Given the description of an element on the screen output the (x, y) to click on. 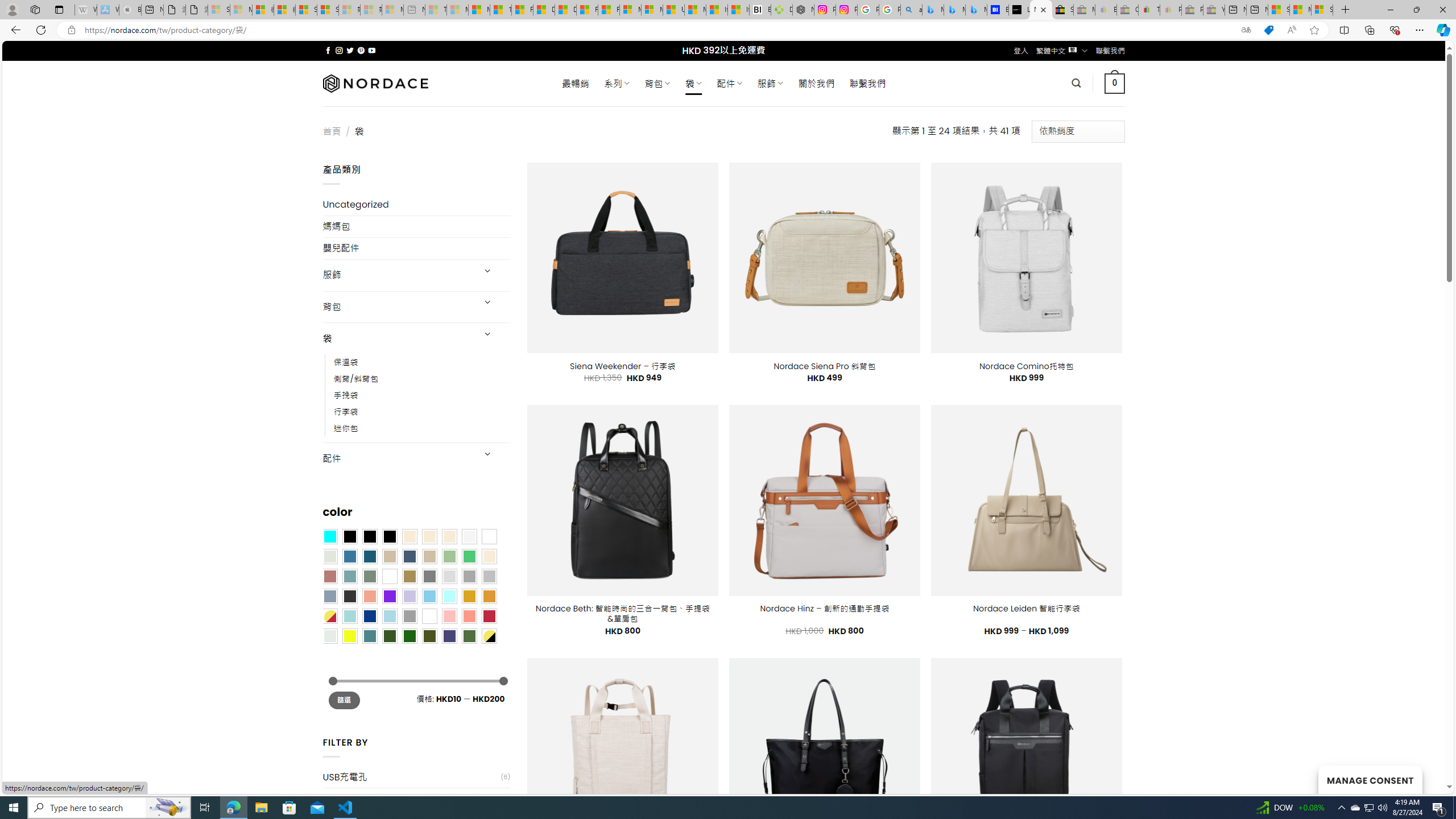
Follow on Twitter (349, 50)
Show translate options (1245, 29)
This site has coupons! Shopping in Microsoft Edge (1268, 29)
Press Room - eBay Inc. - Sleeping (1192, 9)
